Given the description of an element on the screen output the (x, y) to click on. 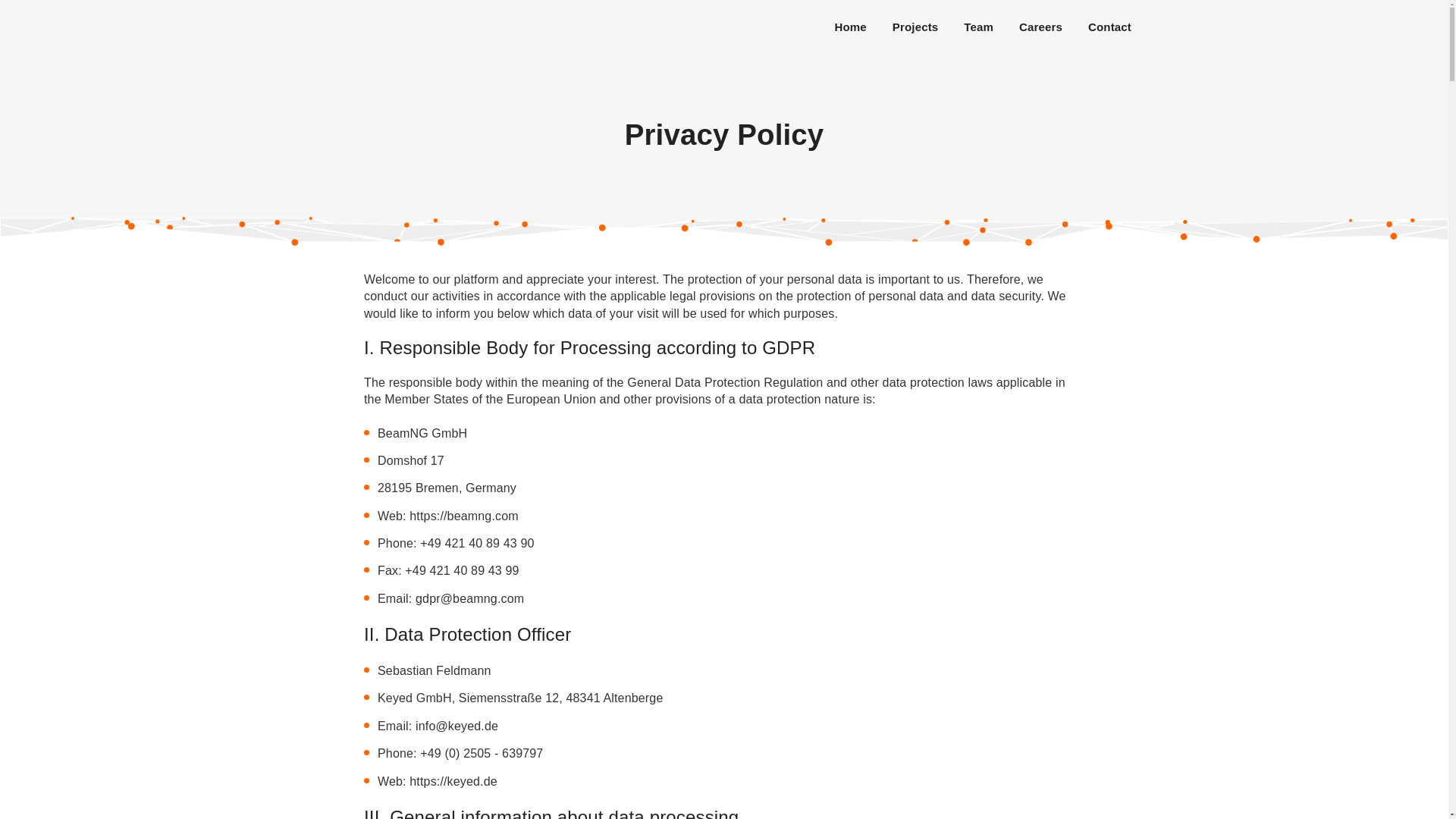
Team (978, 27)
Home (850, 27)
Contact (1109, 27)
Careers (1040, 27)
Projects (914, 27)
BeamNG (453, 26)
